Given the description of an element on the screen output the (x, y) to click on. 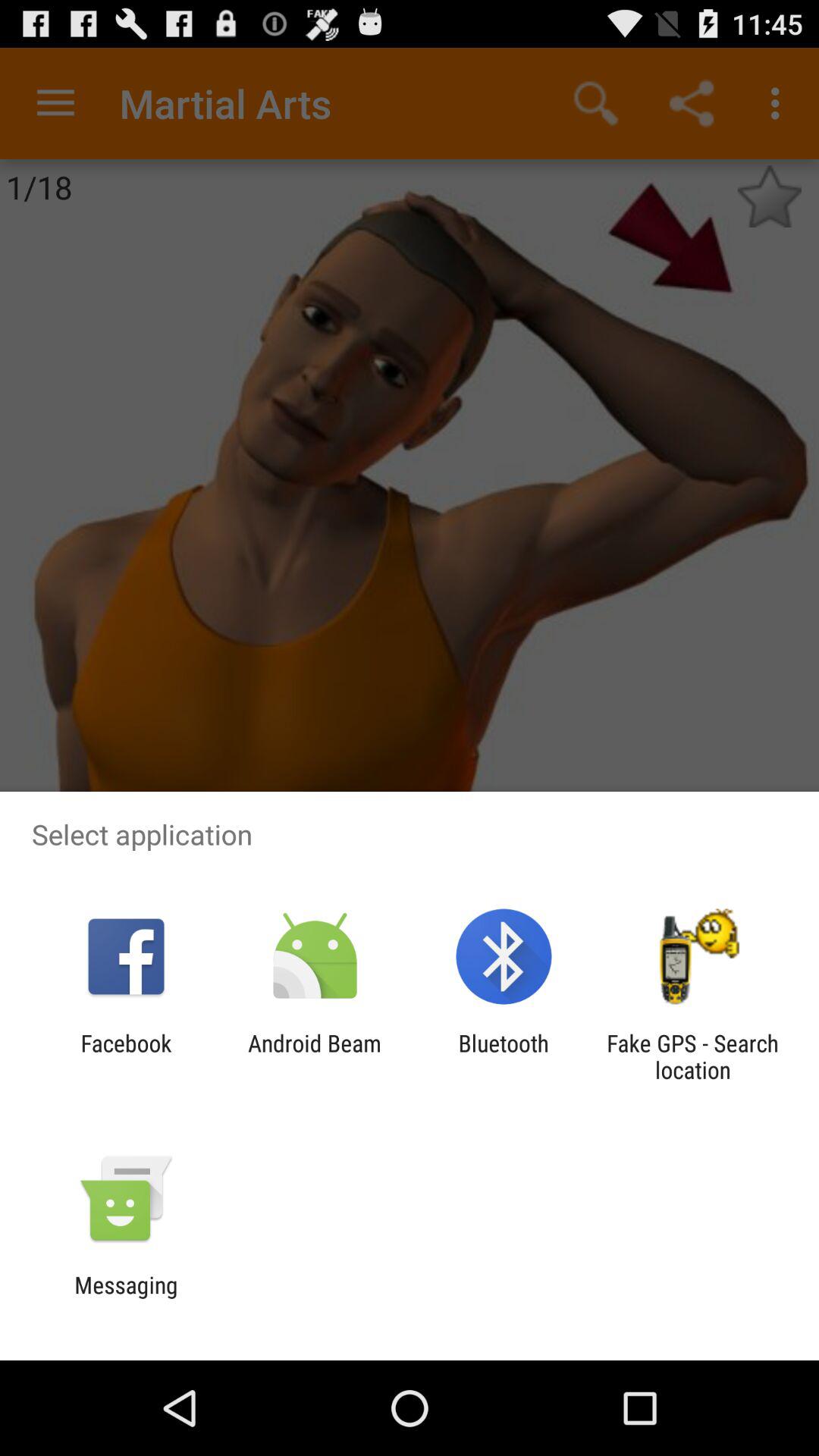
turn off item next to facebook icon (314, 1056)
